Given the description of an element on the screen output the (x, y) to click on. 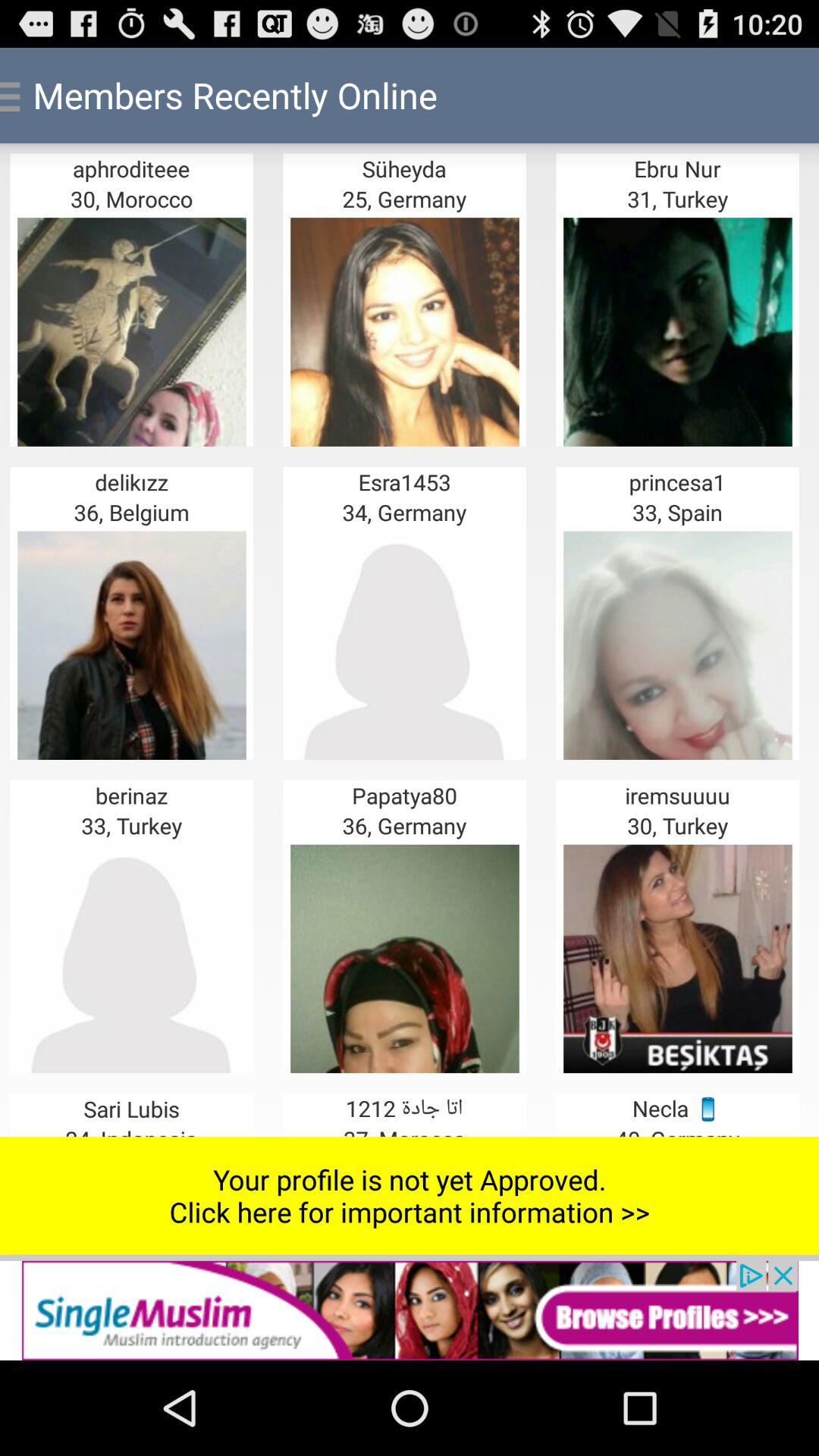
advertising (409, 1310)
